Given the description of an element on the screen output the (x, y) to click on. 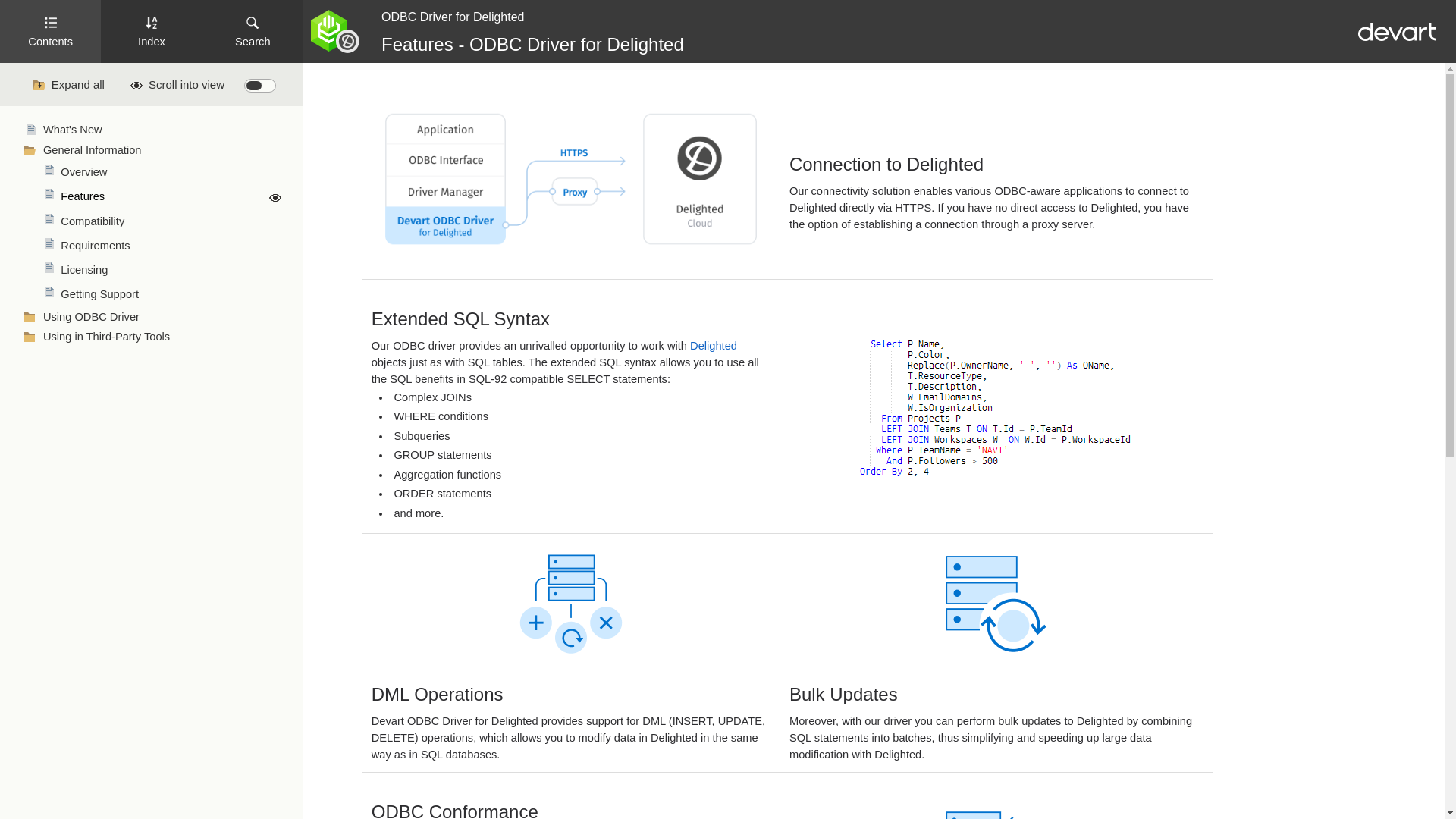
Requirements (172, 245)
Expand all (69, 84)
Licensing (172, 270)
Requirements (172, 245)
Features (172, 196)
Licensing (172, 270)
Overview (172, 171)
Switch Theme (260, 85)
Overview (172, 171)
Getting Support (172, 294)
